Given the description of an element on the screen output the (x, y) to click on. 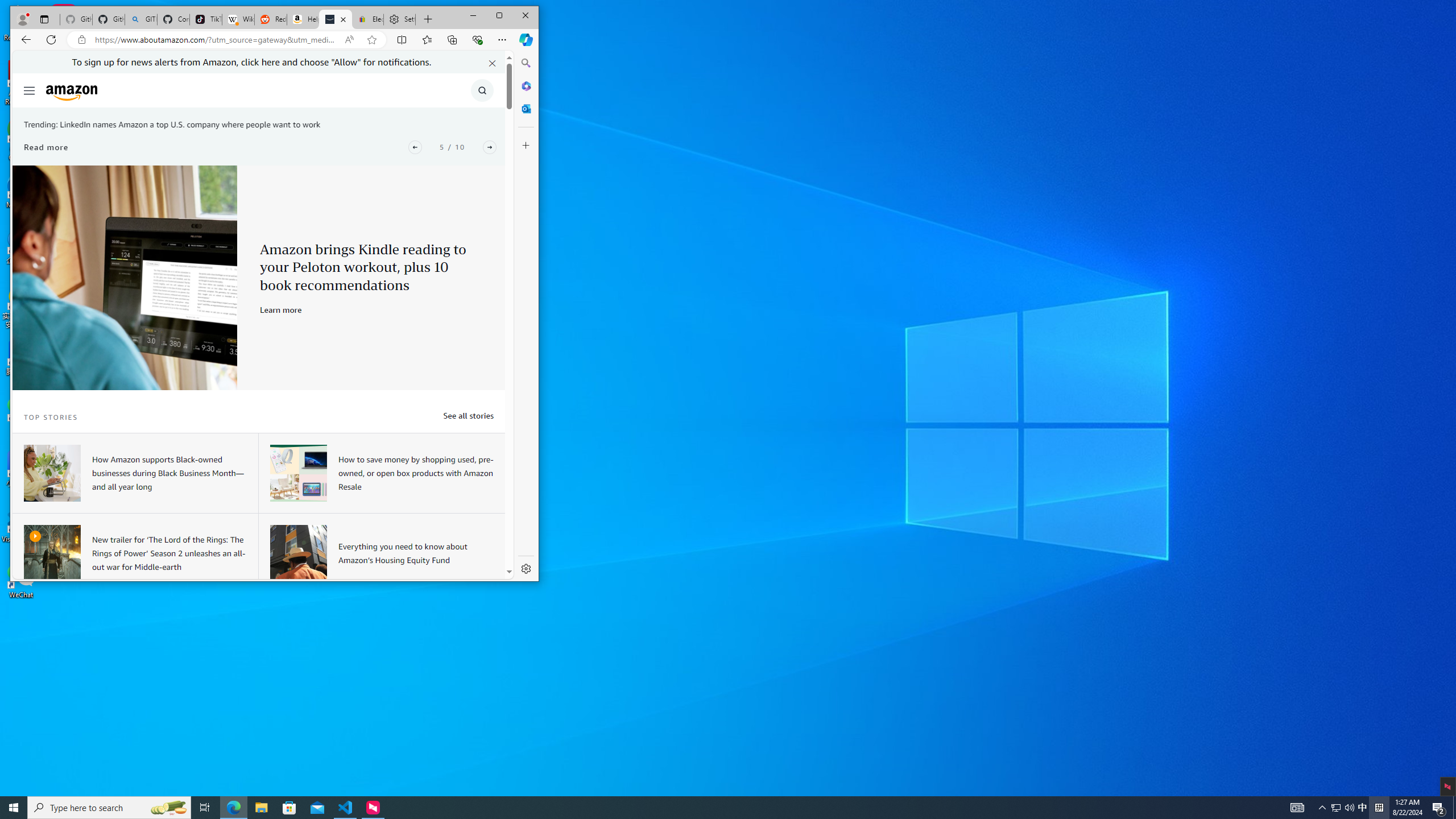
Type here to search (108, 807)
Learn more (280, 309)
About Amazon (335, 19)
Class: flickity-button-icon (489, 146)
Peloton x Kindle (125, 277)
Help & Contact Us - Amazon Customer Service (303, 19)
User Promoted Notification Area (1342, 807)
AutomationID: 4105 (1297, 807)
Running applications (707, 807)
Class: icon-search (481, 89)
